Given the description of an element on the screen output the (x, y) to click on. 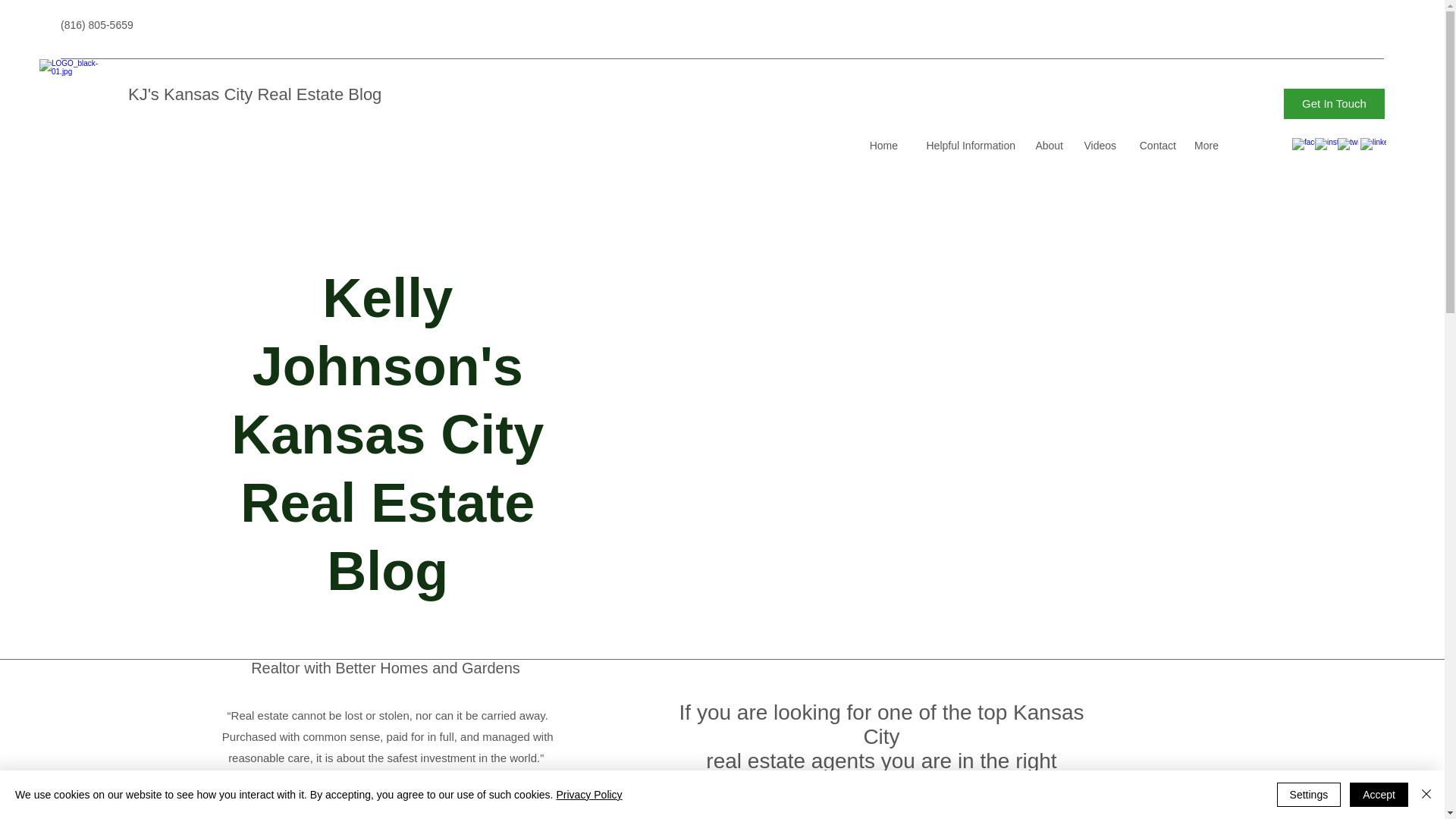
Home (881, 145)
Videos (1097, 145)
Contact (1153, 145)
KJ's Kansas City Real Estate Blog (254, 94)
About (1046, 145)
Privacy Policy (588, 794)
Get In Touch (1334, 103)
Accept (1378, 794)
Settings (1308, 794)
